Given the description of an element on the screen output the (x, y) to click on. 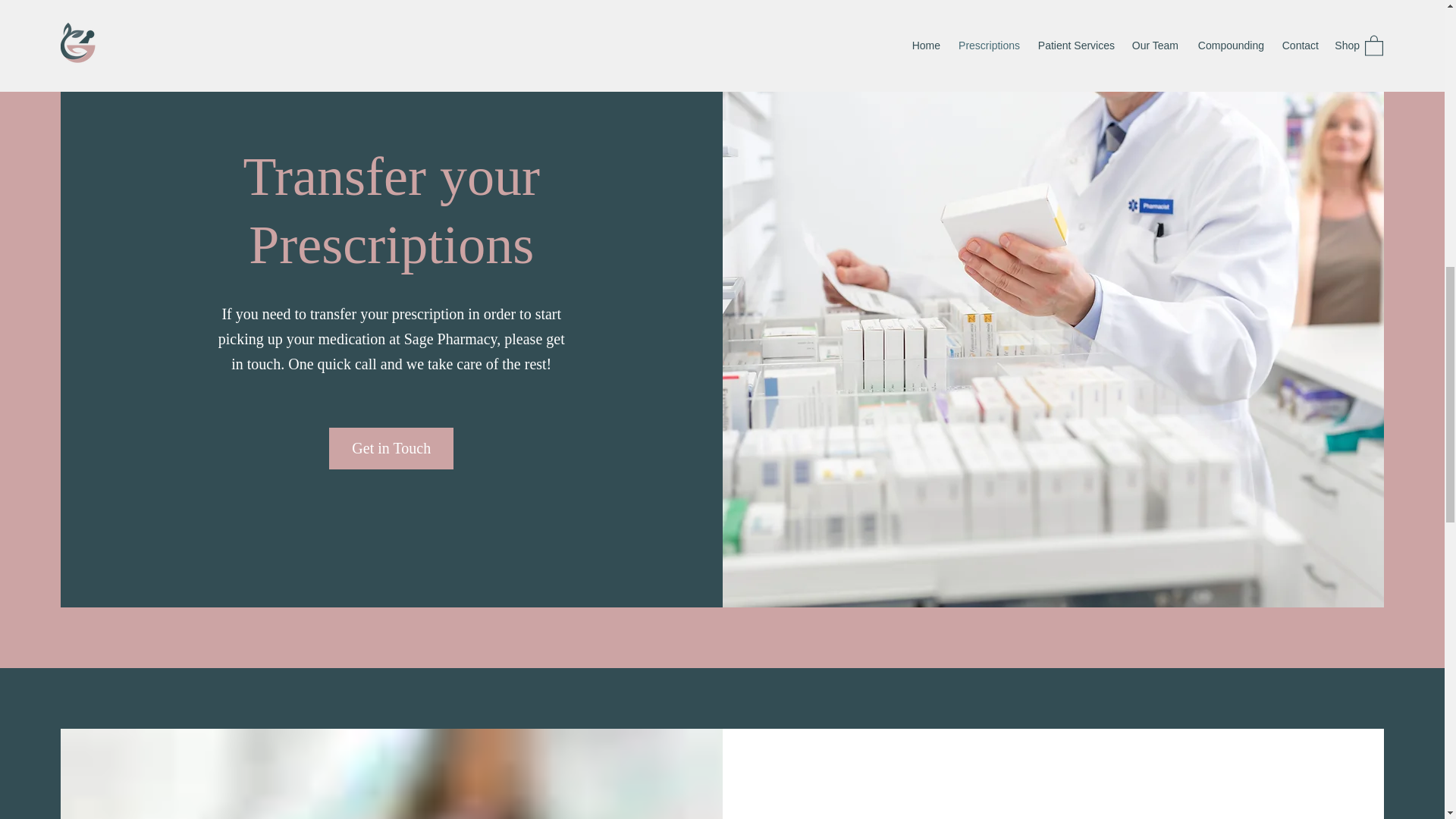
Get in Touch (390, 448)
